Given the description of an element on the screen output the (x, y) to click on. 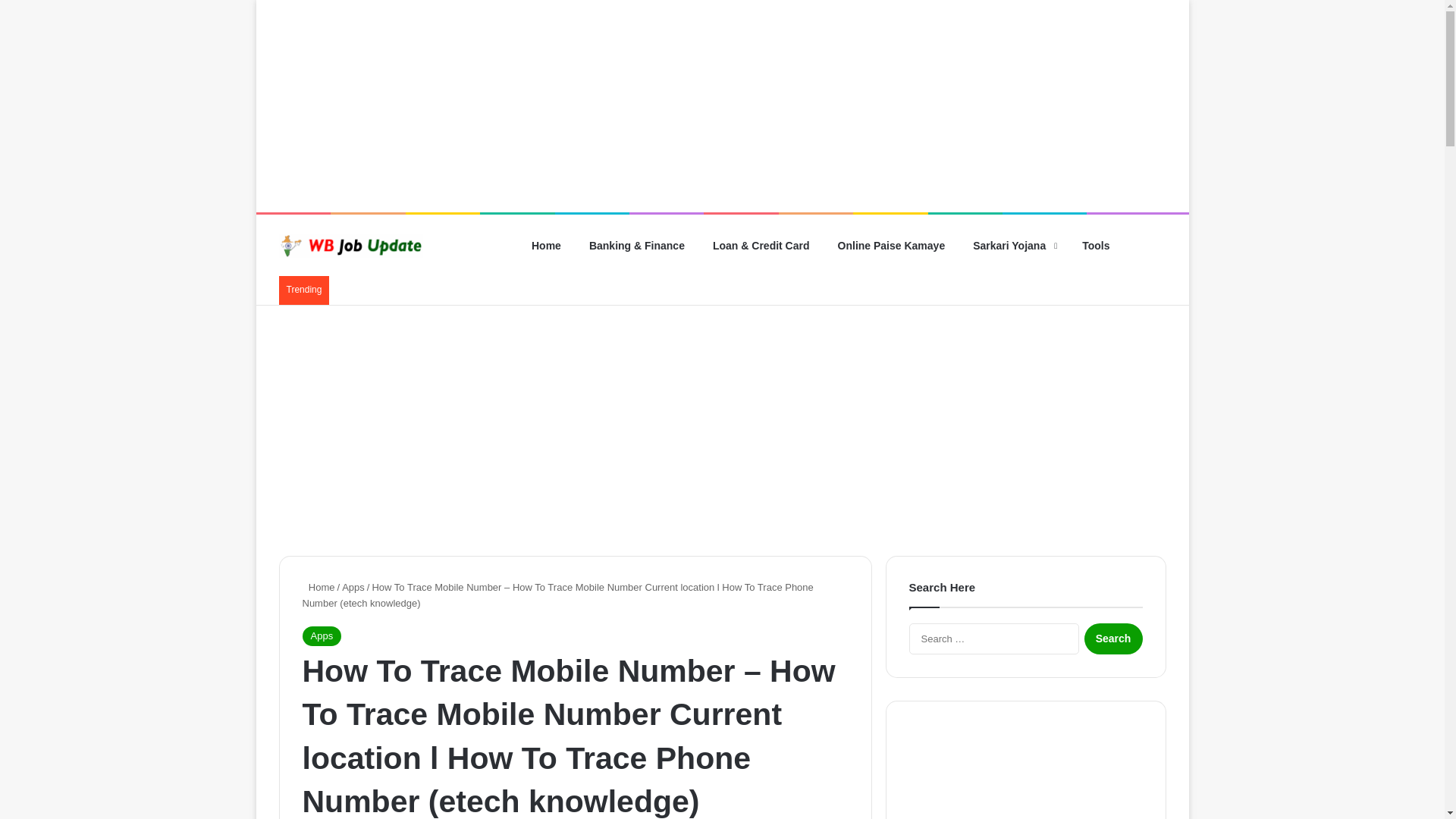
Home (542, 245)
Online Paise Kamaye (888, 245)
Search (1113, 638)
Sarkari Yojana (1009, 245)
Search (1113, 638)
Apps (353, 586)
Tools (1091, 245)
Home (317, 586)
Apps (320, 636)
WB JOB UPDATE (351, 245)
